Given the description of an element on the screen output the (x, y) to click on. 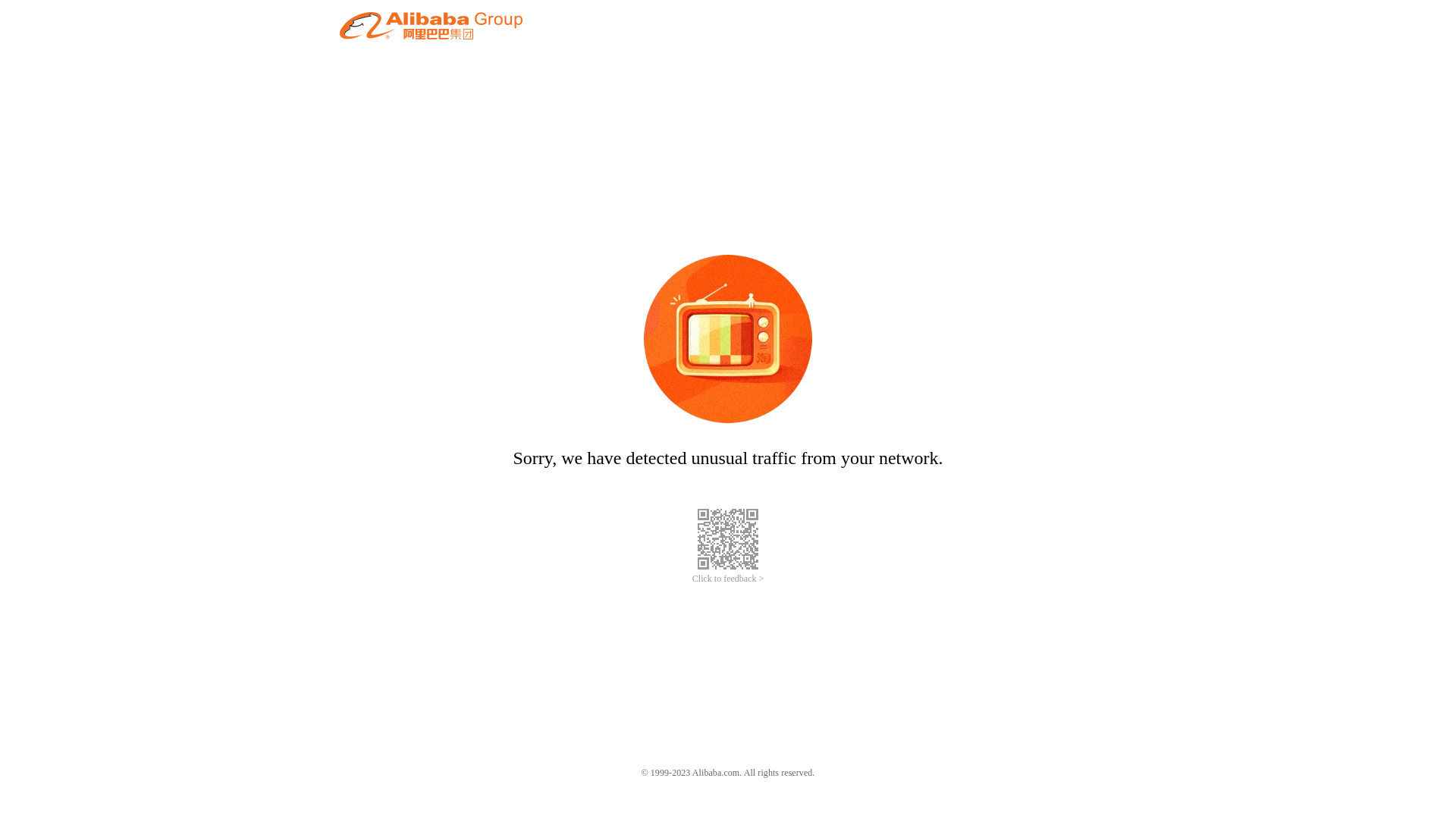
Click to feedback > Element type: text (727, 578)
